Given the description of an element on the screen output the (x, y) to click on. 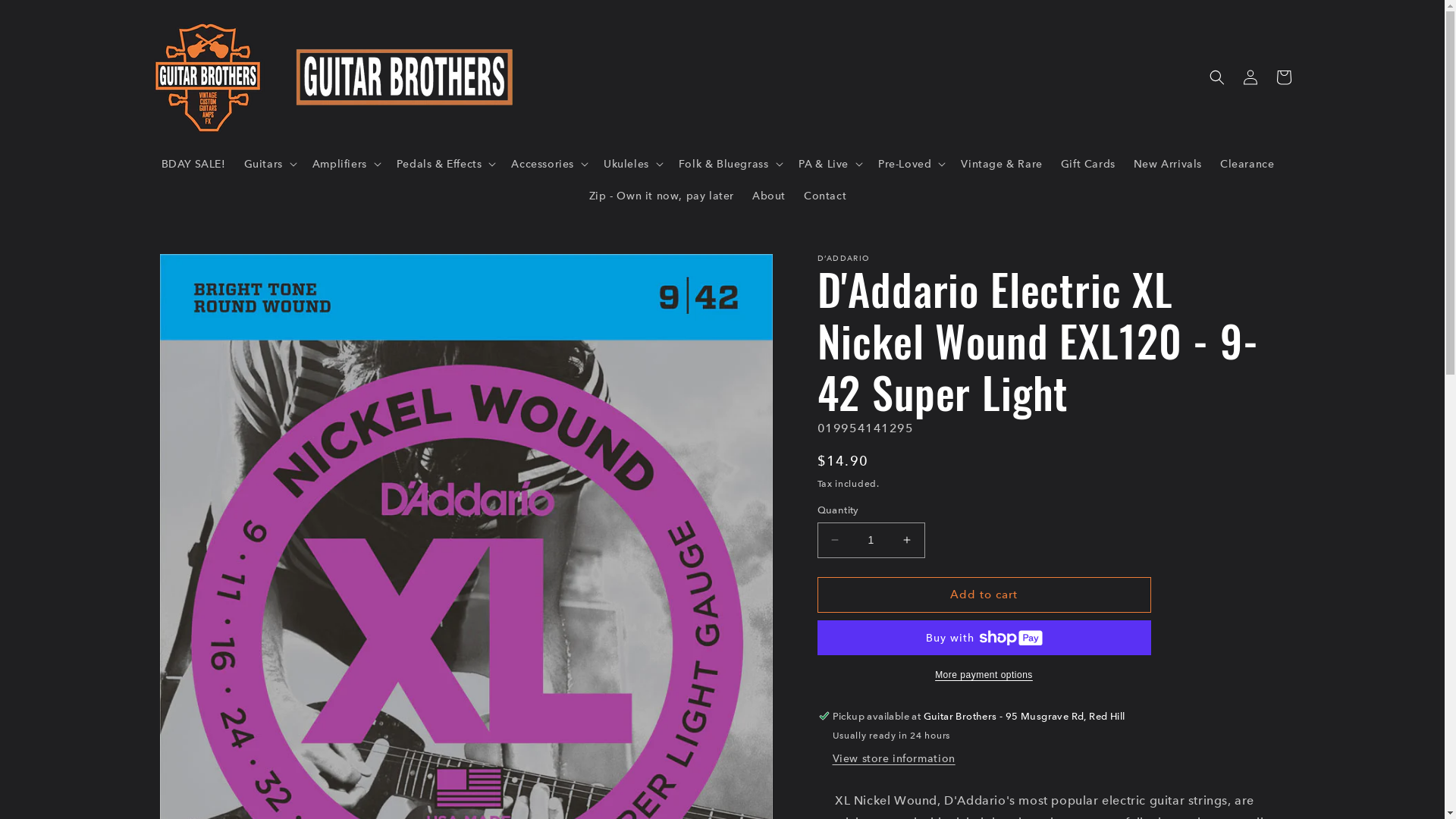
Zip - Own it now, pay later Element type: text (661, 195)
New Arrivals Element type: text (1167, 162)
More payment options Element type: text (984, 674)
Contact Element type: text (824, 195)
Add to cart Element type: text (984, 594)
Vintage & Rare Element type: text (1001, 162)
Skip to product information Element type: text (199, 270)
Clearance Element type: text (1247, 162)
Cart Element type: text (1282, 77)
View store information Element type: text (893, 758)
Log in Element type: text (1249, 77)
Gift Cards Element type: text (1087, 162)
About Element type: text (768, 195)
BDAY SALE! Element type: text (193, 162)
